Given the description of an element on the screen output the (x, y) to click on. 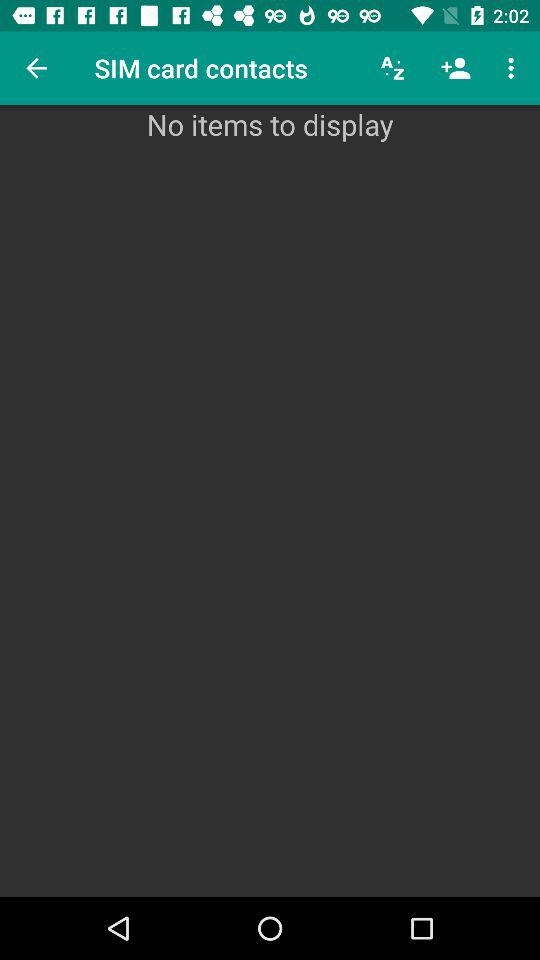
click item to the left of sim card contacts (36, 68)
